Given the description of an element on the screen output the (x, y) to click on. 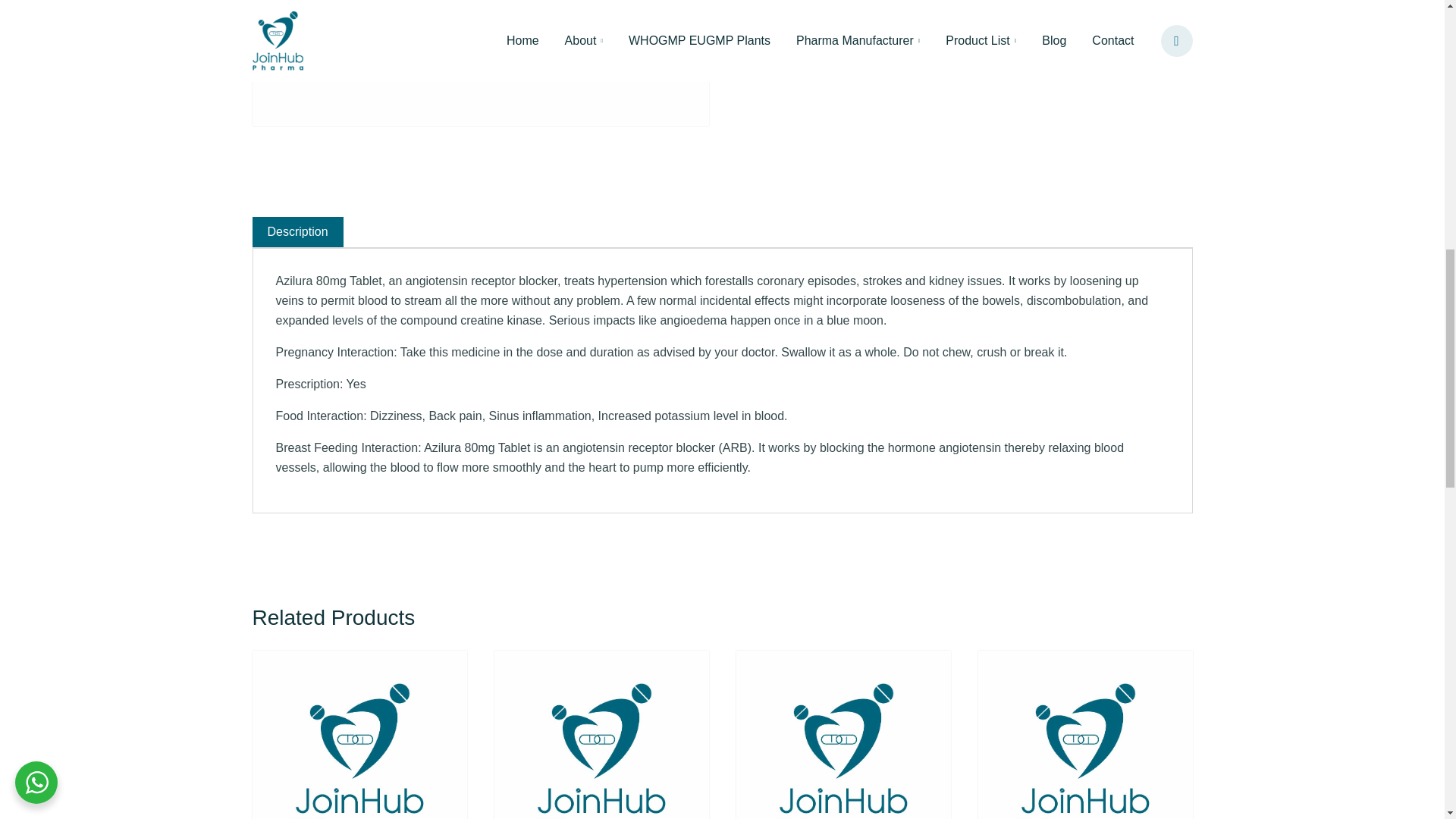
Request a Quote (803, 15)
Description (296, 232)
